Given the description of an element on the screen output the (x, y) to click on. 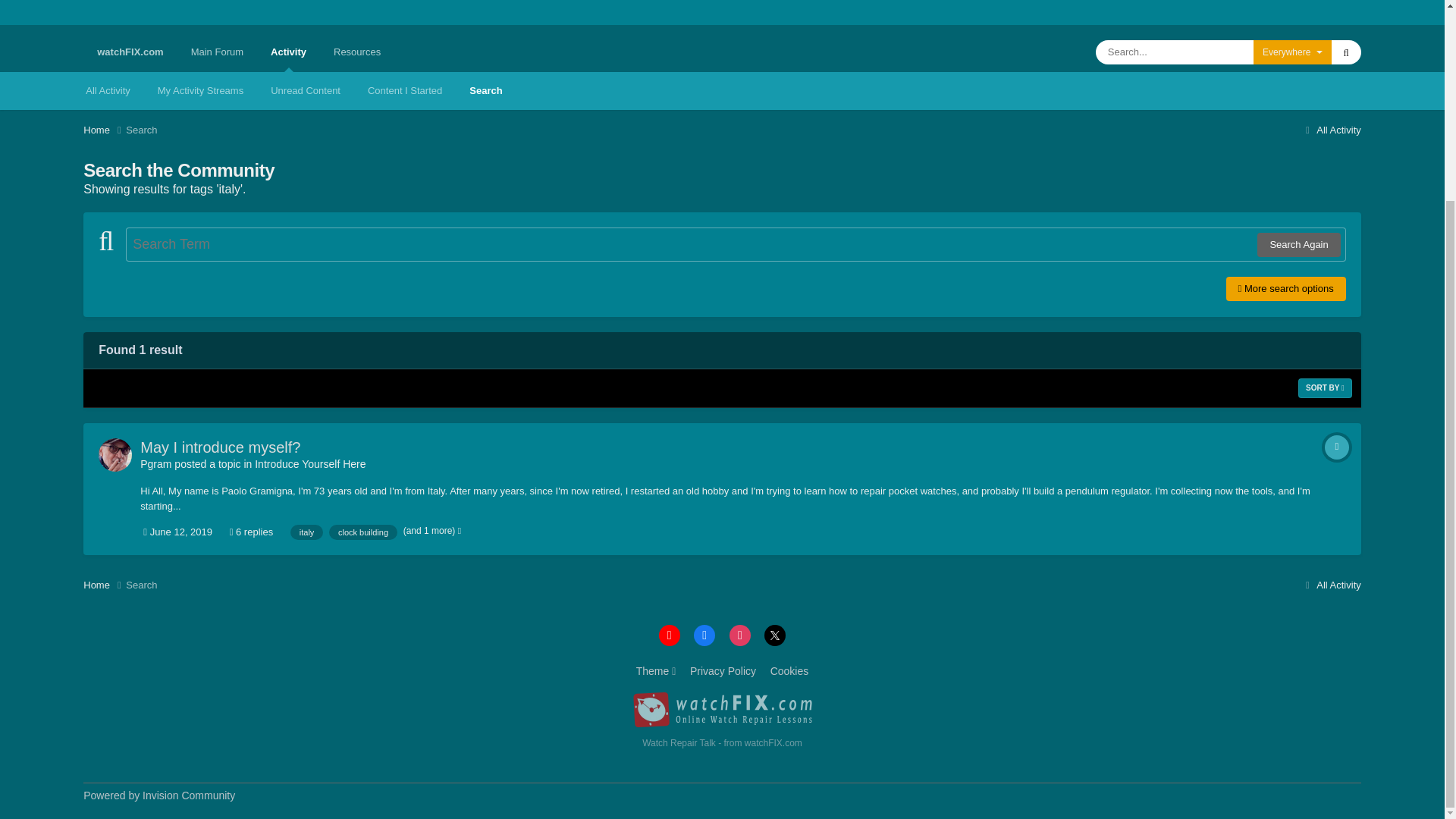
Go to Pgram's profile (115, 454)
Go to Pgram's profile (155, 463)
Resources (357, 52)
Advertisement (721, 12)
Topic (1336, 446)
Home (103, 130)
Main Forum (217, 52)
Home (103, 585)
Search (485, 90)
Unread Content (305, 90)
